Given the description of an element on the screen output the (x, y) to click on. 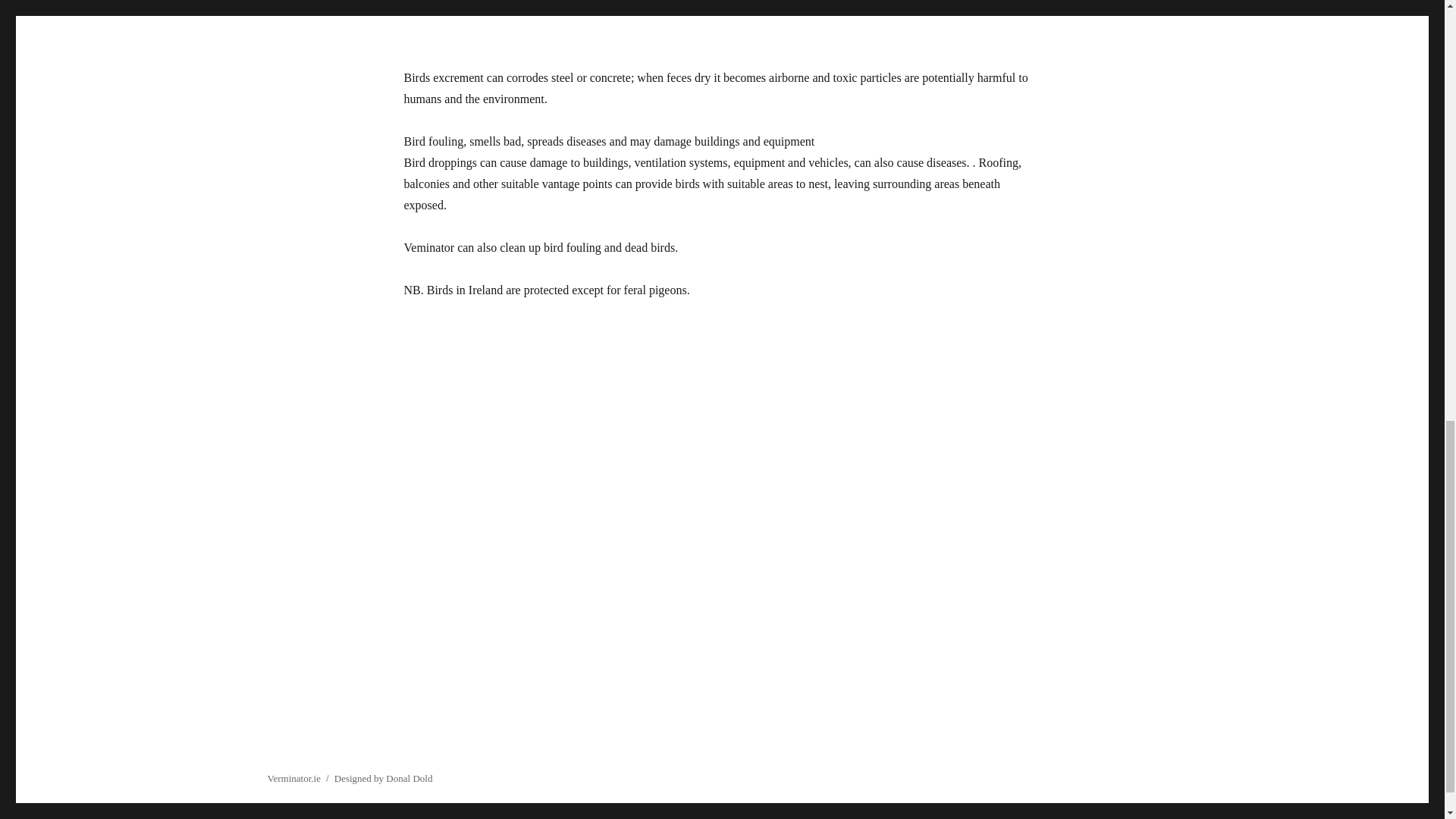
Designed by Donal Dold (383, 778)
Verminator.ie (293, 778)
